Given the description of an element on the screen output the (x, y) to click on. 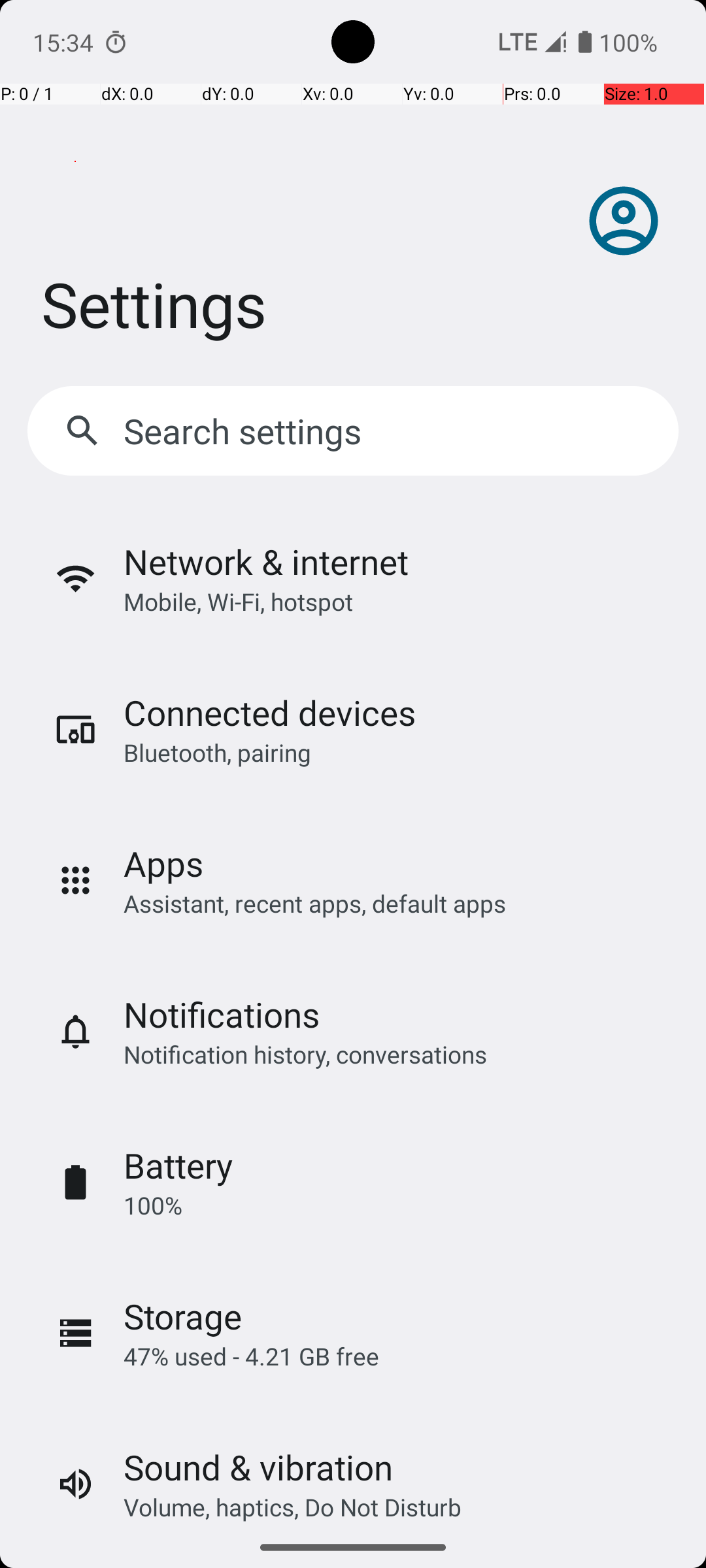
47% used - 4.21 GB free Element type: android.widget.TextView (251, 1355)
